Given the description of an element on the screen output the (x, y) to click on. 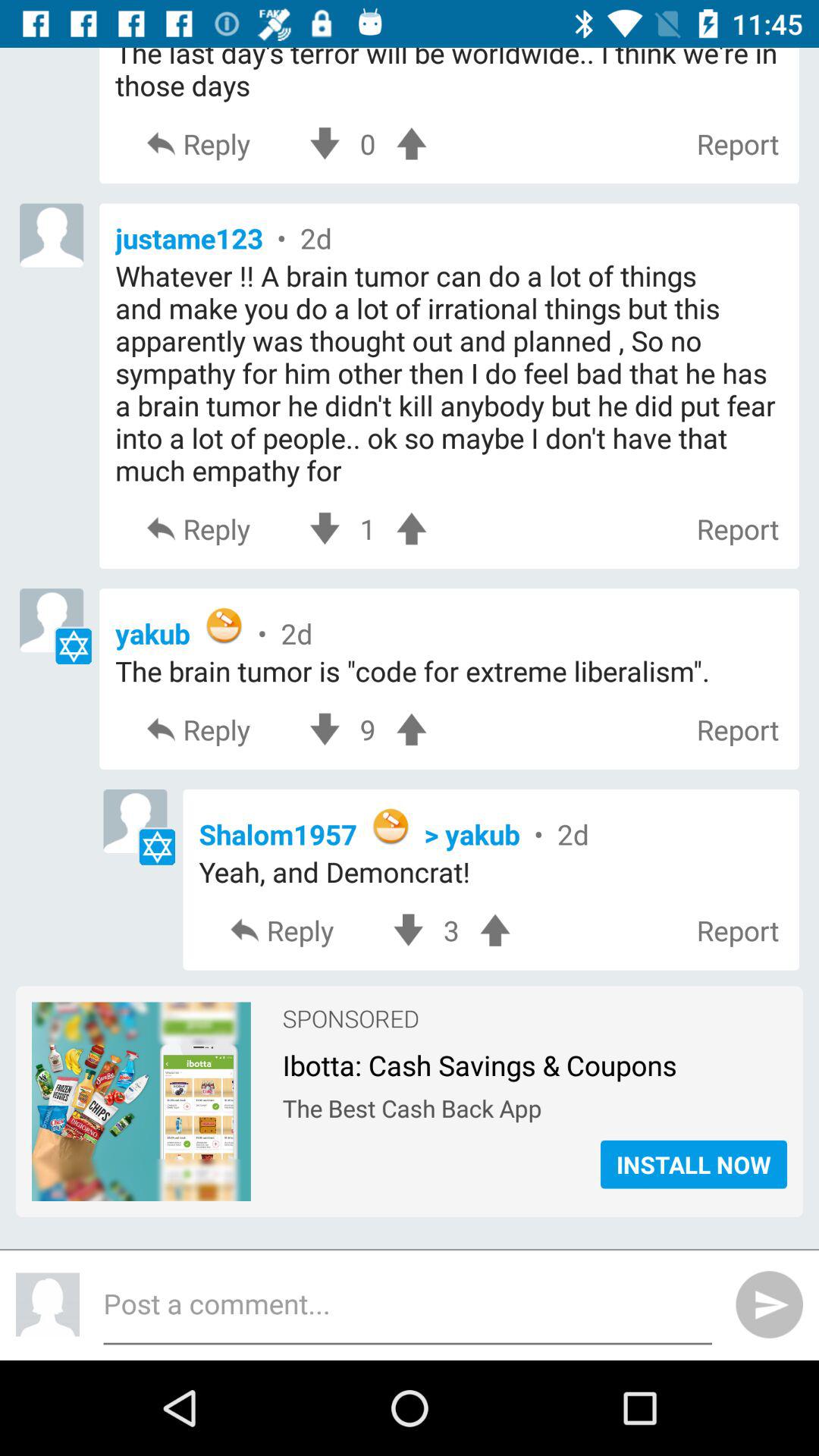
open the best cash item (534, 1104)
